Given the description of an element on the screen output the (x, y) to click on. 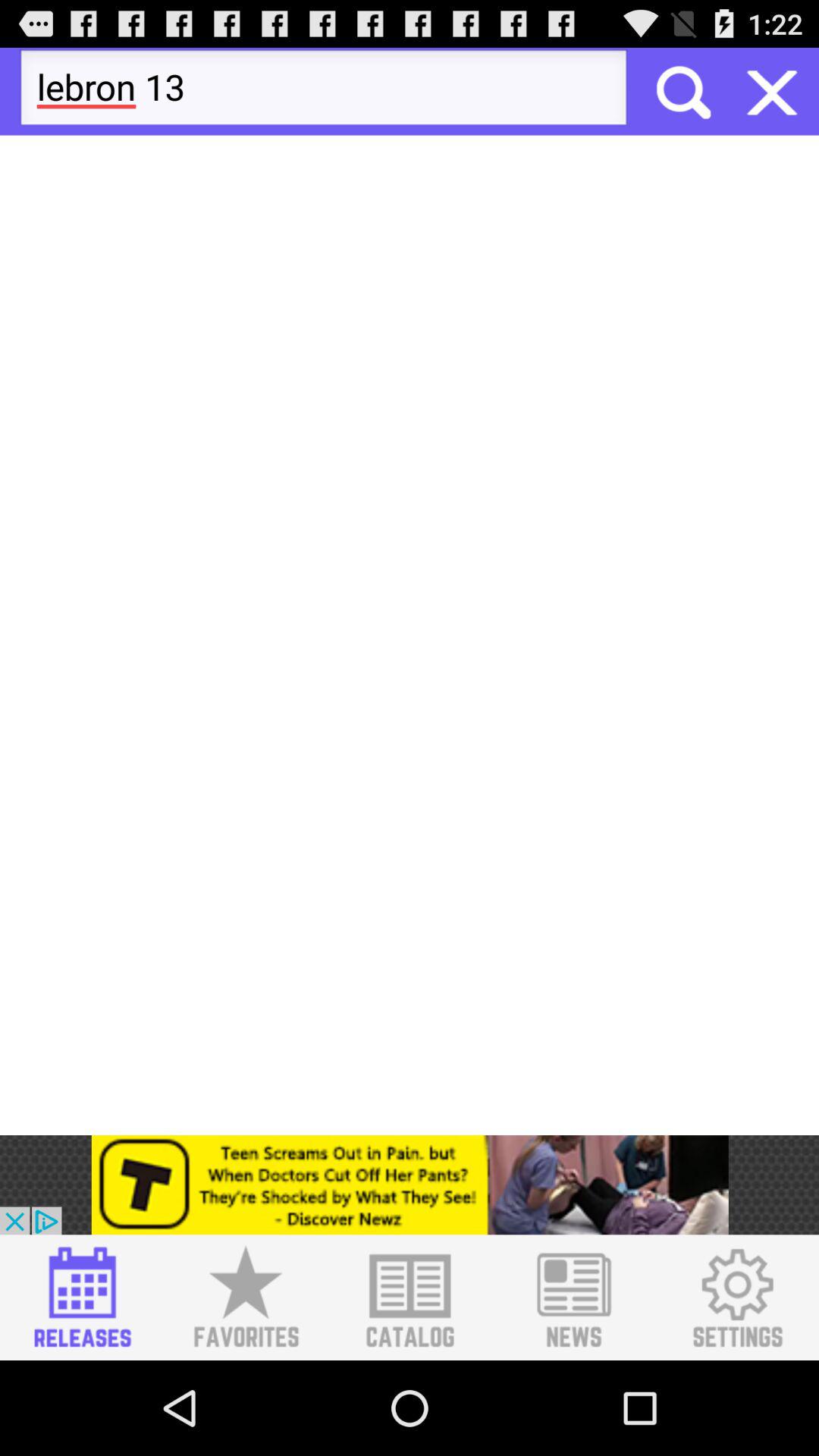
settings option (737, 1297)
